Given the description of an element on the screen output the (x, y) to click on. 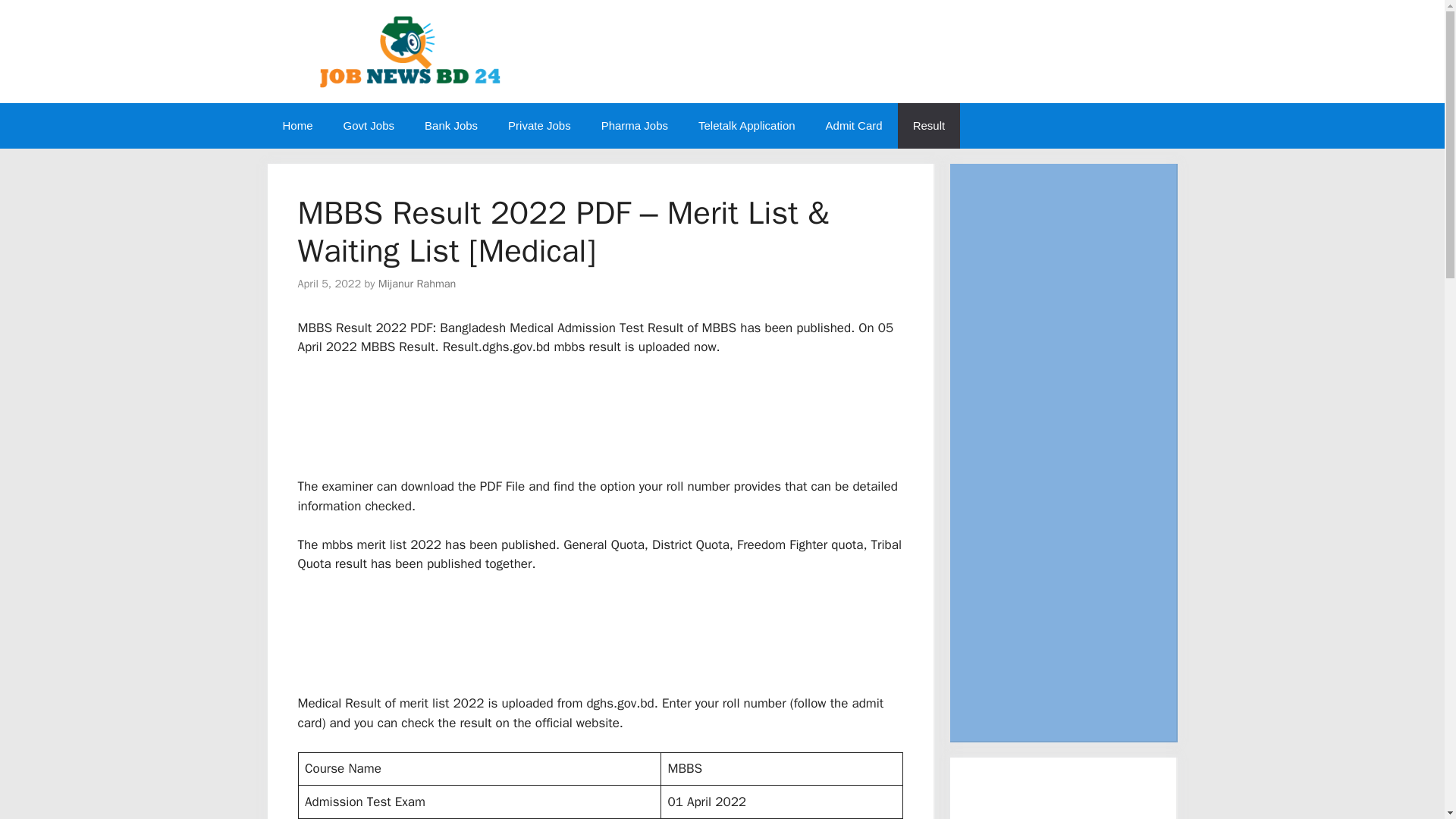
Advertisement (619, 639)
Bank Jobs (451, 125)
Pharma Jobs (634, 125)
Govt Jobs (369, 125)
Admit Card (854, 125)
Private Jobs (539, 125)
View all posts by Mijanur Rahman (417, 283)
Teletalk Application (746, 125)
Mijanur Rahman (417, 283)
Advertisement (619, 422)
